Given the description of an element on the screen output the (x, y) to click on. 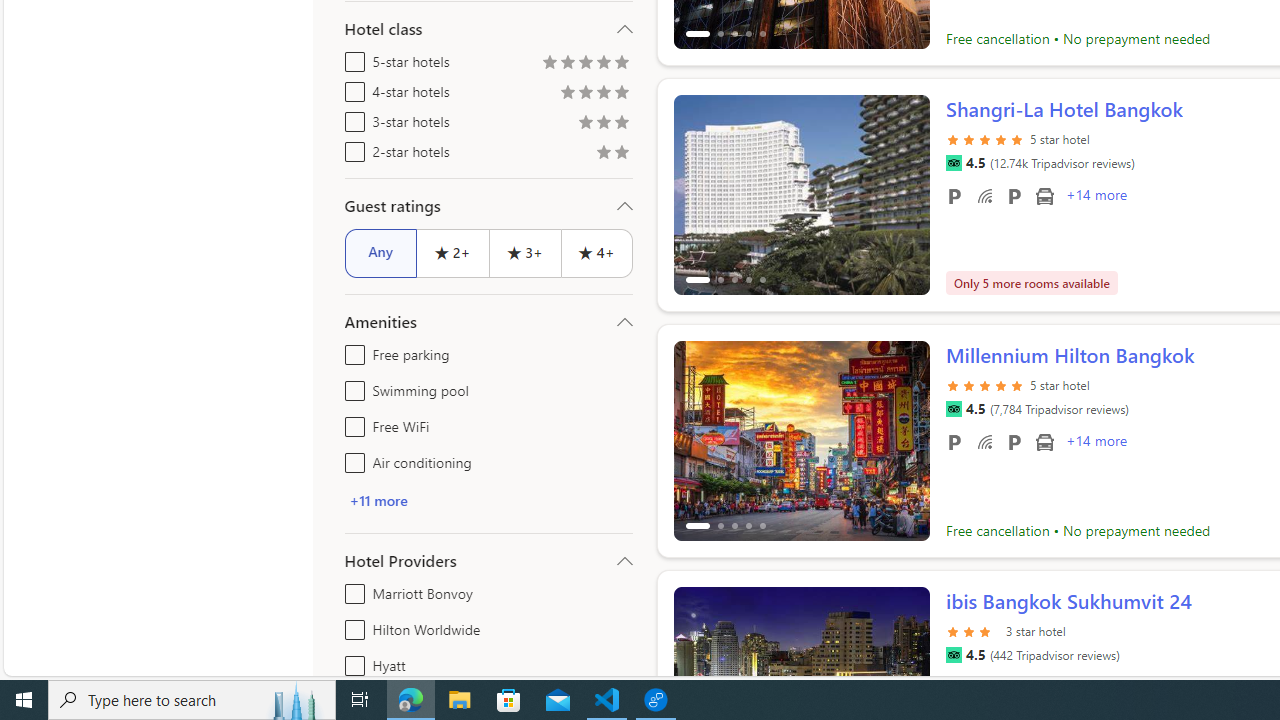
Marriott Bonvoy (351, 589)
+14 More Amenities (1095, 443)
Hotel class (488, 29)
4+ (596, 252)
Free parking (953, 441)
ScrollLeft (697, 678)
Free WiFi (351, 422)
5-star hotels (351, 57)
Hotel Providers (488, 560)
2+ (452, 252)
ScrollRight (905, 678)
Swimming pool (351, 386)
Hyatt (351, 661)
3-star hotels (351, 118)
Airport transportation (1044, 441)
